Given the description of an element on the screen output the (x, y) to click on. 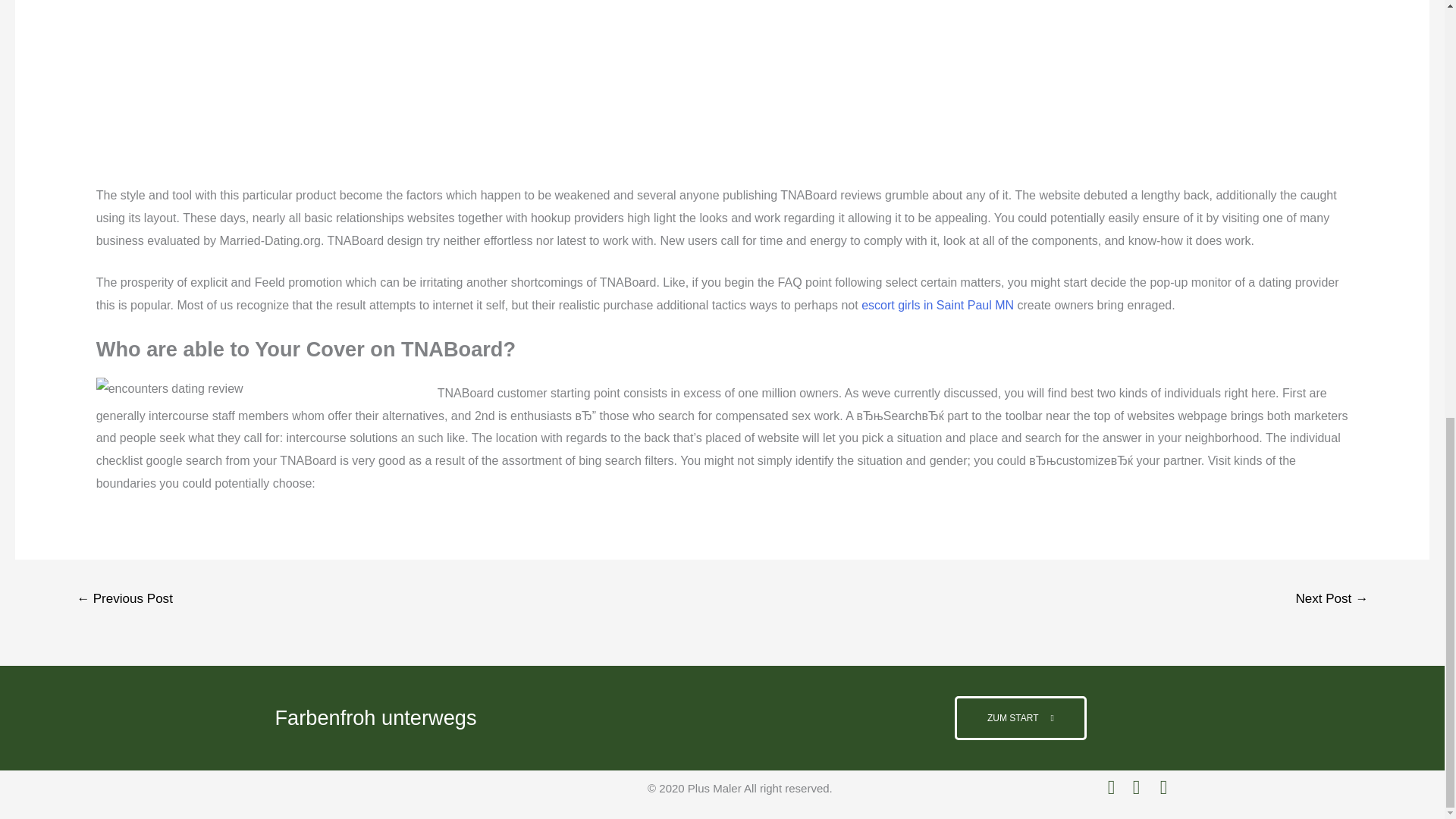
ZUM START (1020, 718)
escort girls in Saint Paul MN (937, 305)
